Given the description of an element on the screen output the (x, y) to click on. 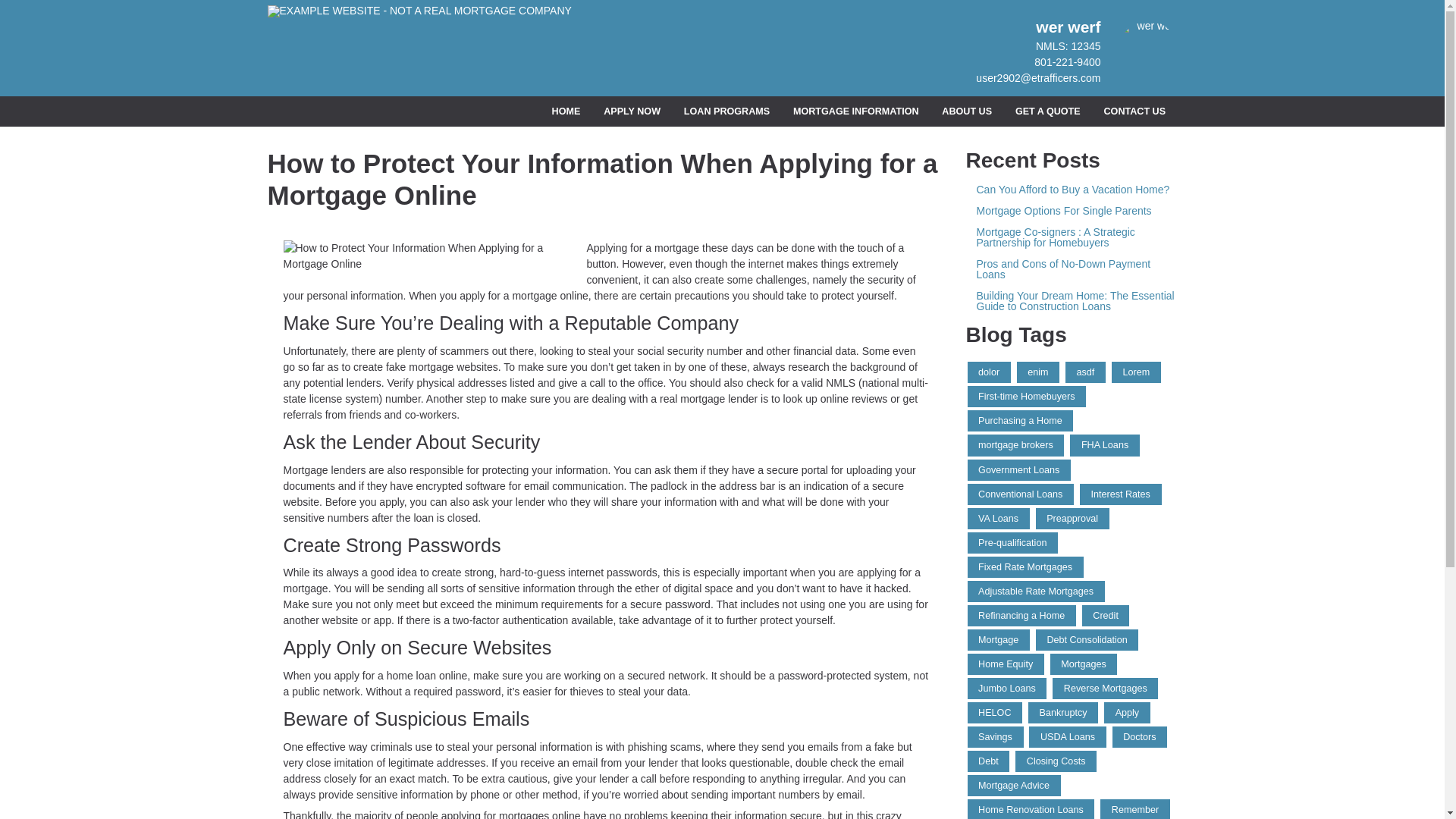
CONTACT US (1134, 111)
Mortgage Options For Single Parents (1071, 210)
Pros and Cons of No-Down Payment Loans (1071, 269)
APPLY NOW (632, 111)
Can You Afford to Buy a Vacation Home? (1071, 189)
HOME (566, 111)
801-221-9400 (1066, 61)
GET A QUOTE (1047, 111)
MORTGAGE INFORMATION (855, 111)
LOAN PROGRAMS (725, 111)
ABOUT US (967, 111)
Mortgage Co-signers : A Strategic Partnership for Homebuyers (1071, 237)
